Given the description of an element on the screen output the (x, y) to click on. 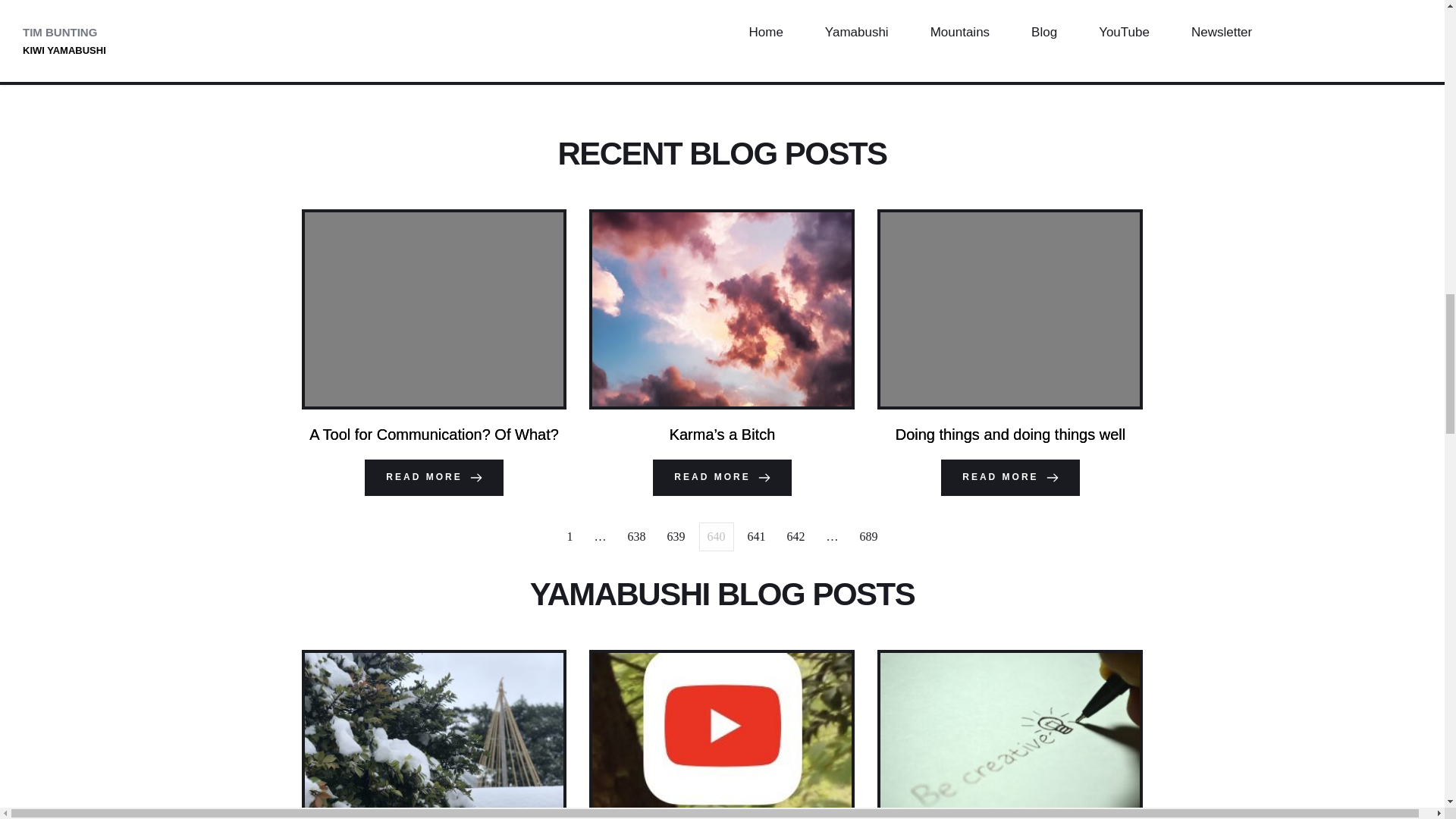
638 (636, 536)
READ MORE (433, 477)
READ MORE (721, 477)
READ MORE (1009, 477)
641 (756, 536)
689 (868, 536)
642 (795, 536)
639 (676, 536)
